Given the description of an element on the screen output the (x, y) to click on. 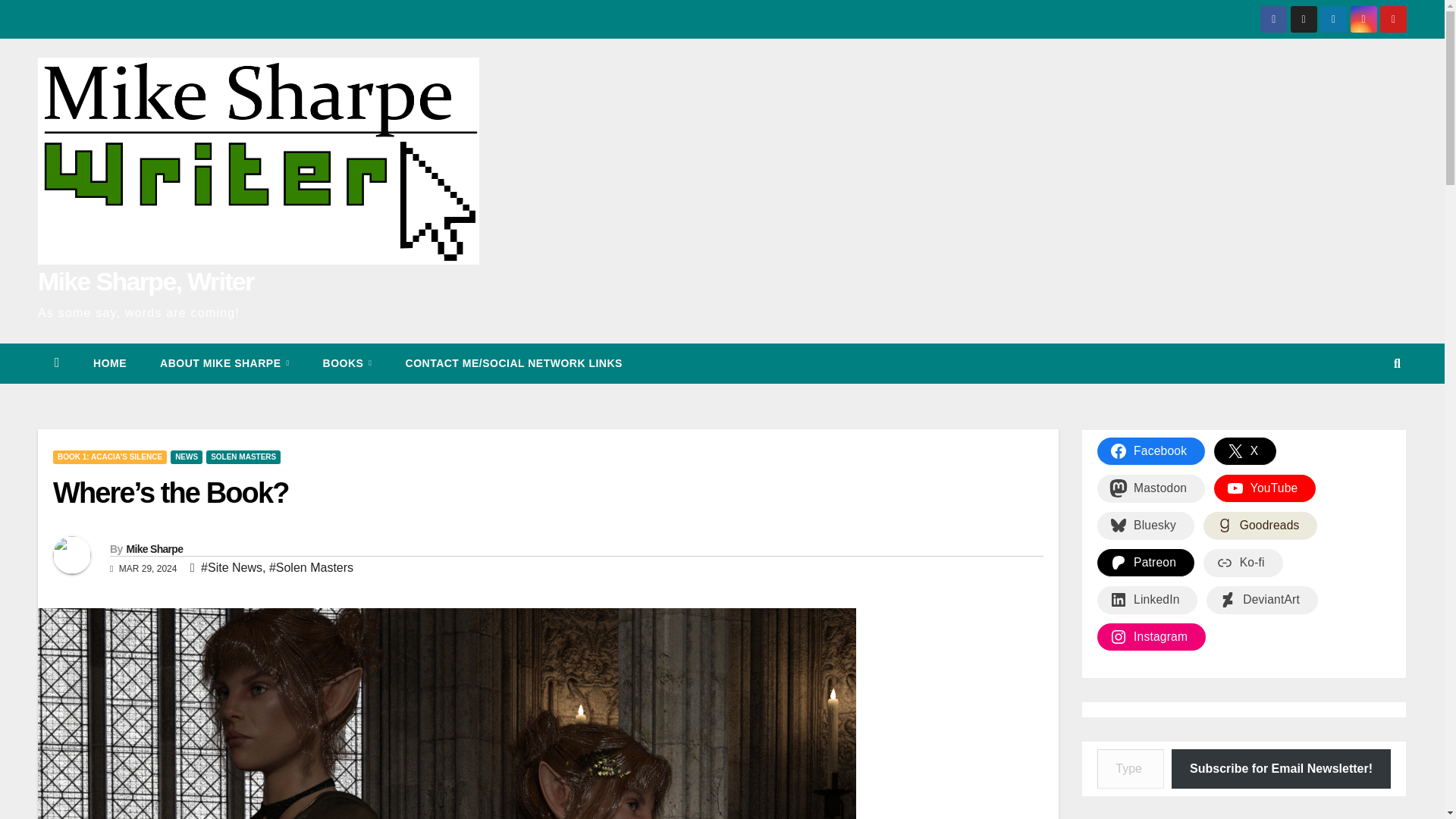
Home (109, 363)
SOLEN MASTERS (243, 457)
Mike Sharpe (154, 548)
Mike Sharpe, Writer (145, 280)
HOME (109, 363)
BOOKS (346, 363)
About Mike Sharpe (223, 363)
BOOK 1: ACACIA'S SILENCE (109, 457)
ABOUT MIKE SHARPE (223, 363)
Books (346, 363)
